Given the description of an element on the screen output the (x, y) to click on. 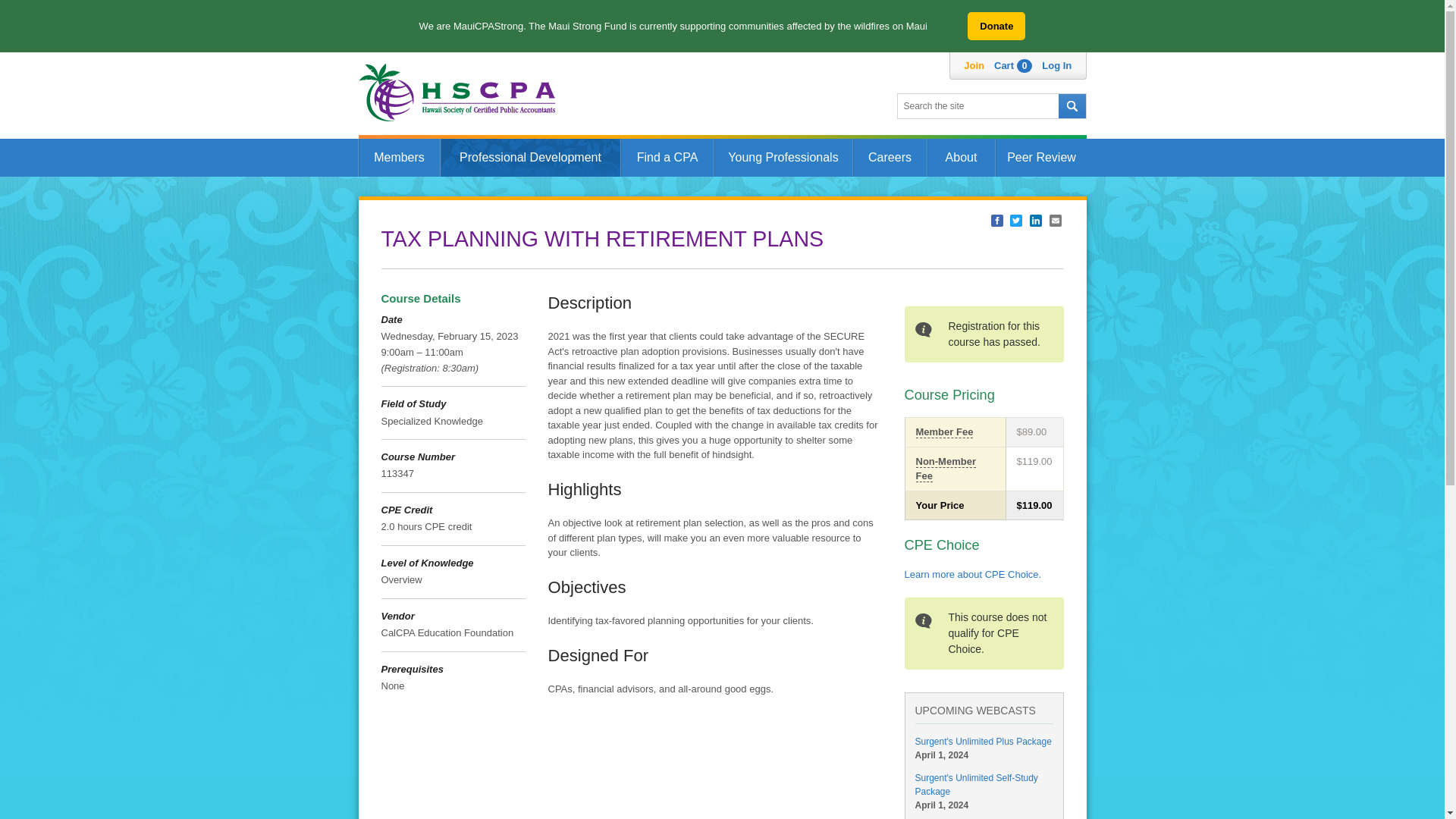
Careers (888, 157)
Log In (1056, 65)
Young Professionals (782, 157)
Peer Review (1040, 157)
Donate (996, 26)
Cart 0 (1013, 65)
Find a CPA (666, 157)
About (960, 157)
Join (973, 65)
Members (398, 157)
Learn more about CPE Choice. (972, 573)
Professional Development (529, 157)
